Given the description of an element on the screen output the (x, y) to click on. 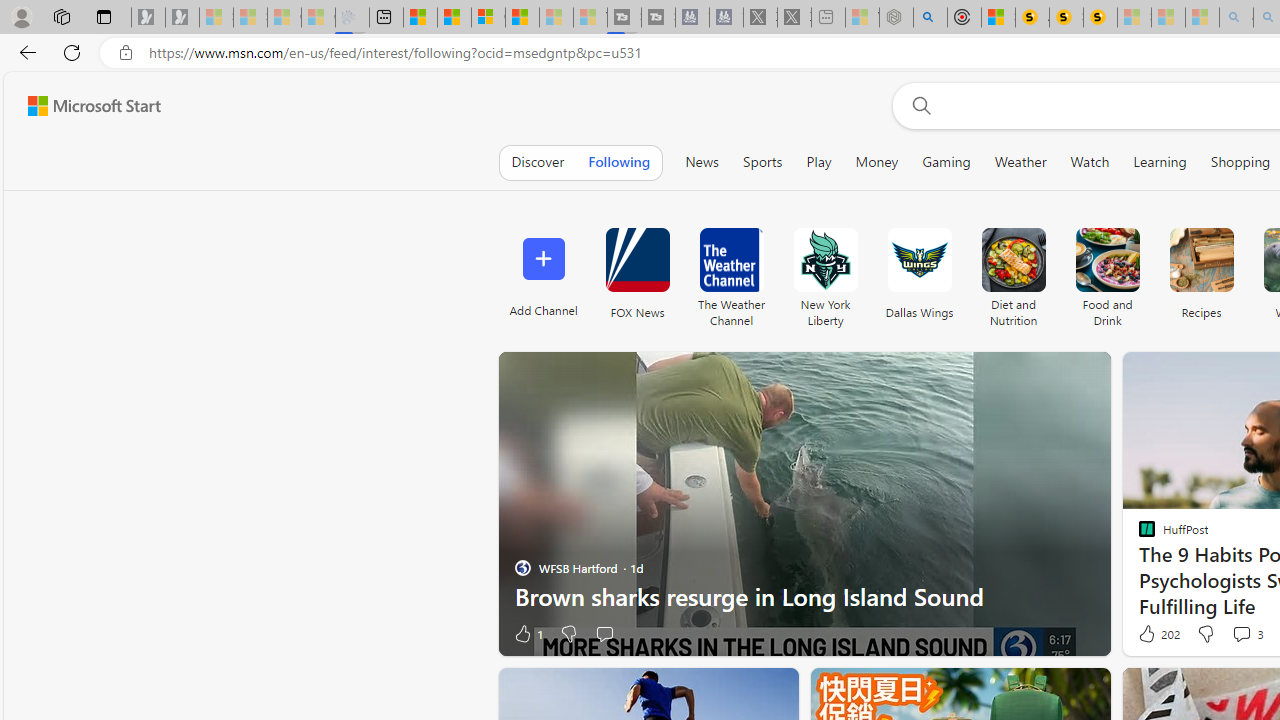
Play (818, 162)
Weather (1019, 162)
Diet and Nutrition (1012, 272)
Hide this story (738, 691)
Dallas Wings (919, 260)
